Given the description of an element on the screen output the (x, y) to click on. 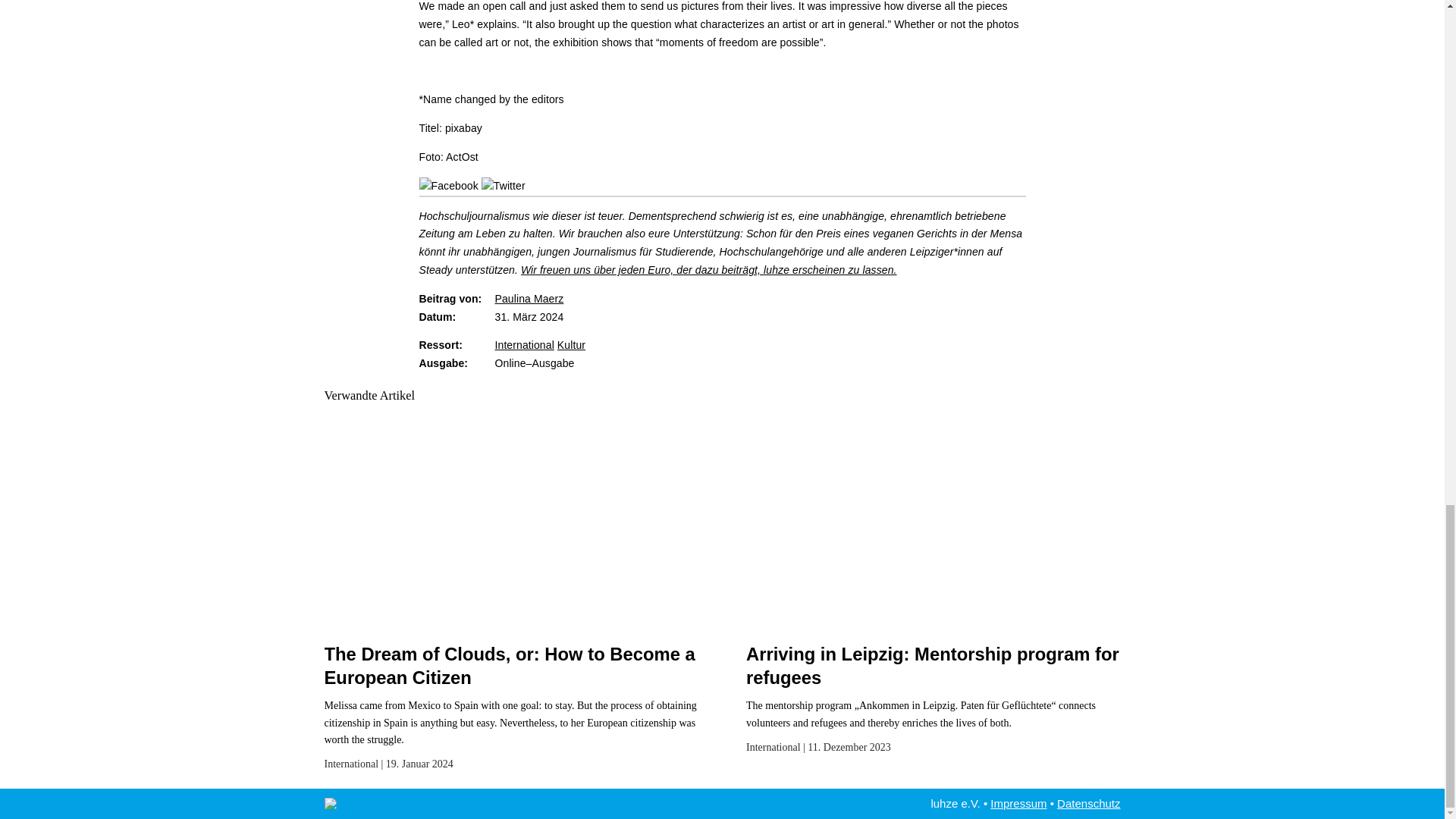
International (524, 345)
Arriving in Leipzig: Mentorship program for refugees (932, 665)
Paulina Maerz (529, 298)
Kultur (571, 345)
Impressum (1018, 802)
Datenschutz (1088, 802)
The Dream of Clouds, or: How to Become a European Citizen (509, 665)
International (772, 747)
International (351, 763)
